Given the description of an element on the screen output the (x, y) to click on. 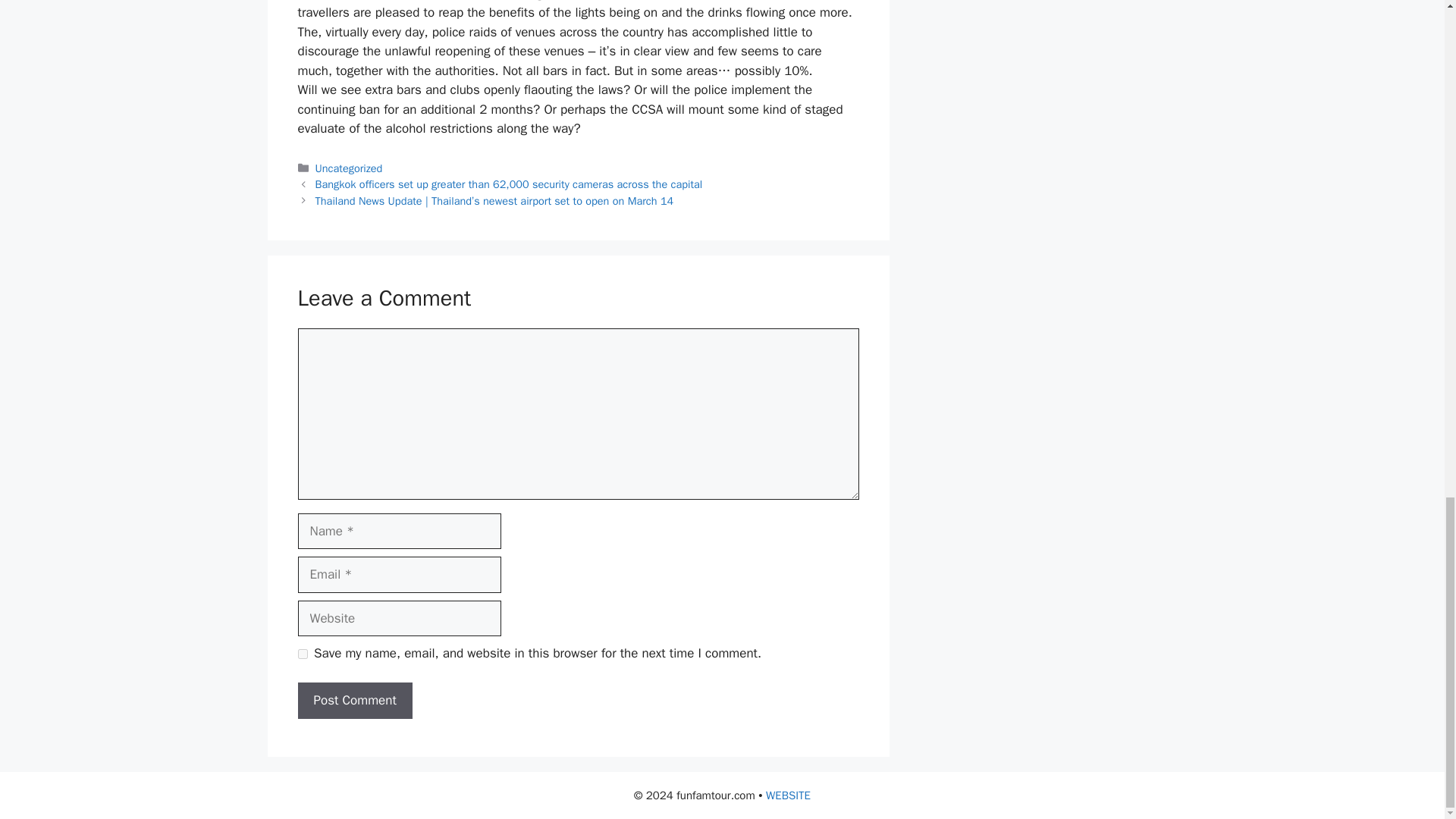
Uncategorized (348, 168)
Post Comment (354, 700)
WEBSITE (787, 795)
yes (302, 654)
Post Comment (354, 700)
